Given the description of an element on the screen output the (x, y) to click on. 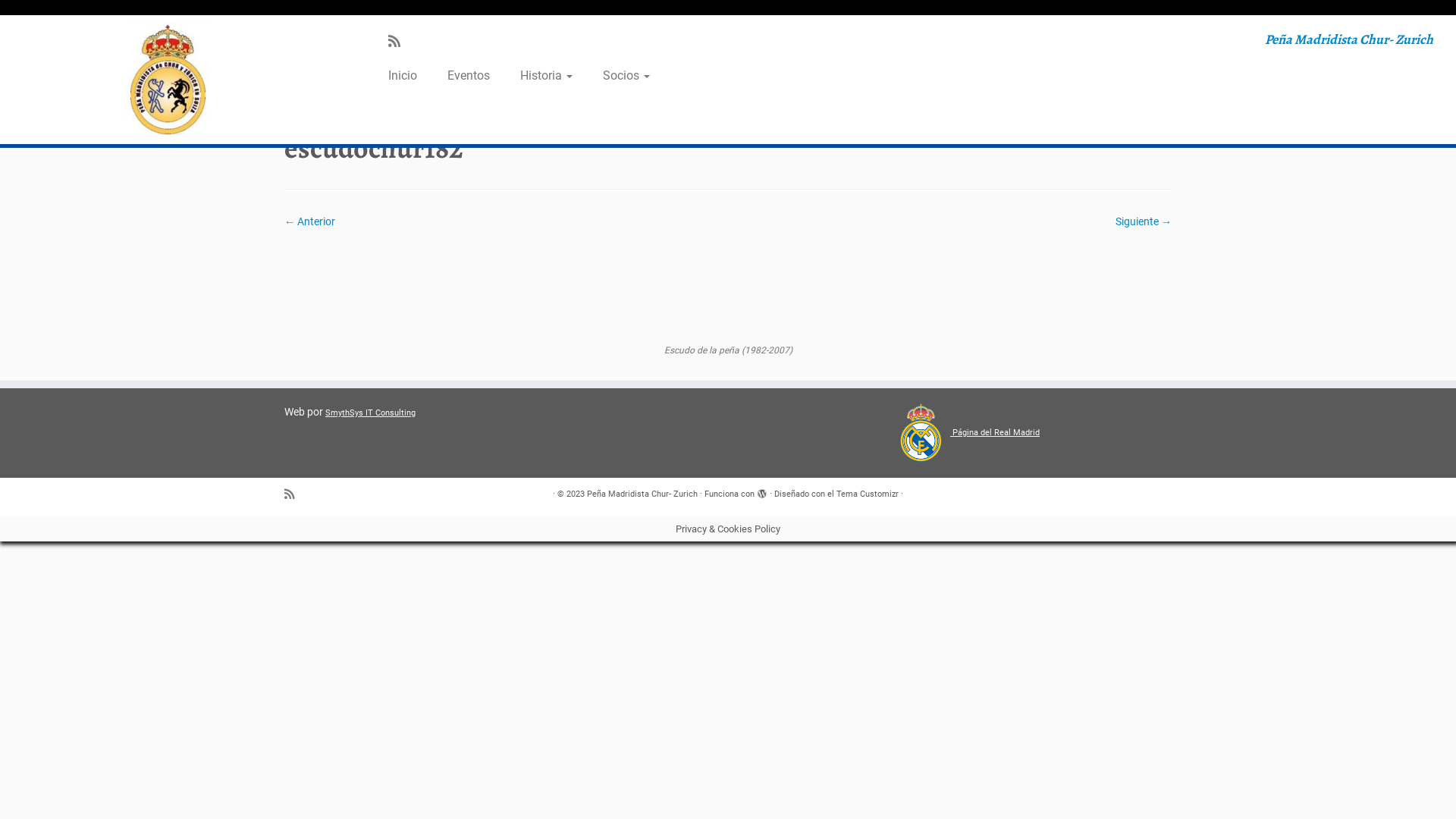
escudochur182 Element type: hover (727, 285)
Inicio Element type: text (296, 105)
Historia Element type: text (546, 75)
SmythSys IT Consulting Element type: text (370, 412)
Eventos Element type: text (468, 75)
Tema Customizr Element type: text (867, 494)
Inicio Element type: text (408, 75)
Funciona con WordPress Element type: hover (761, 491)
Socios Element type: text (618, 75)
